Given the description of an element on the screen output the (x, y) to click on. 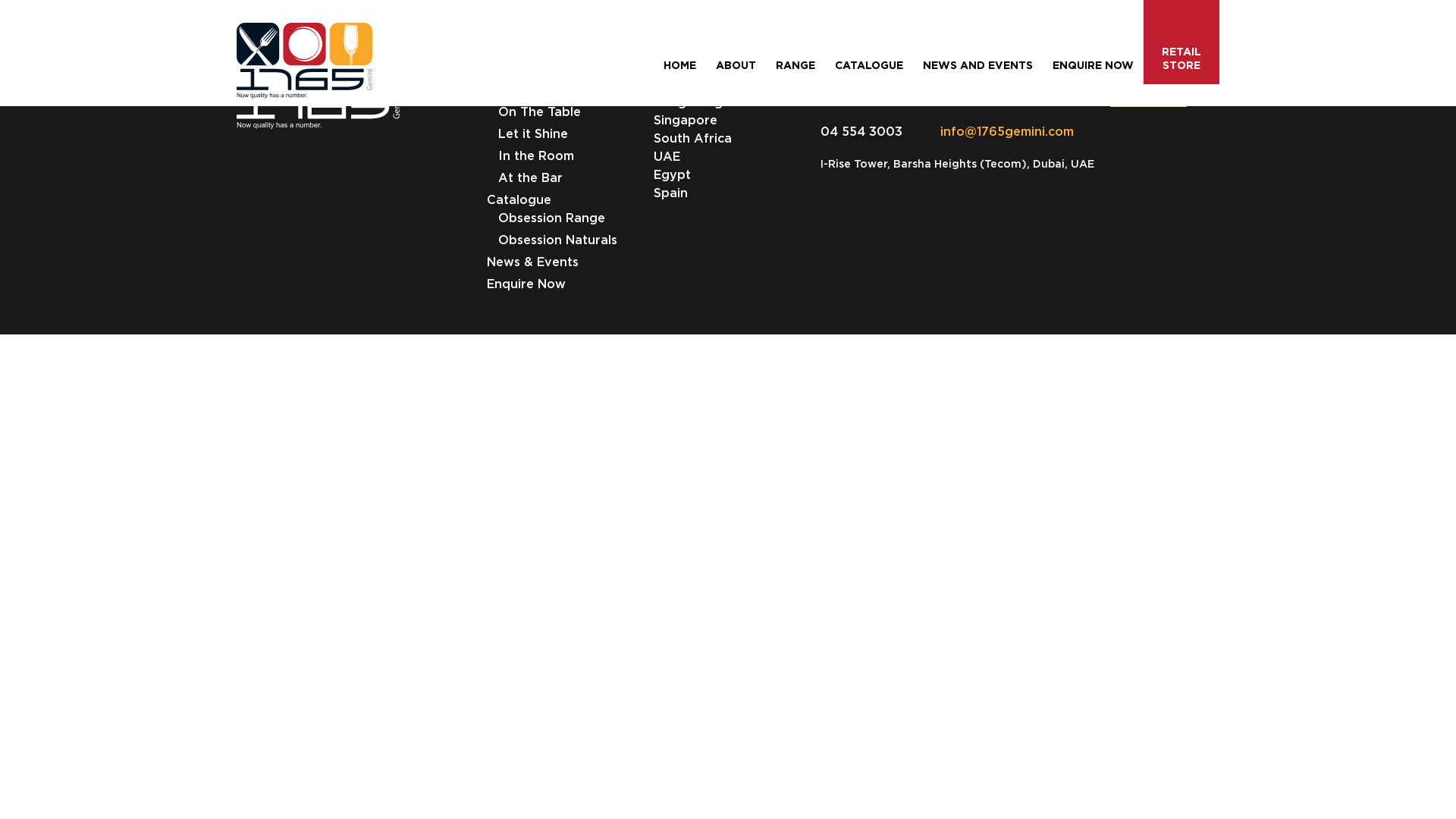
CATALOGUE Element type: text (869, 65)
RANGE Element type: text (795, 65)
Home Element type: text (503, 48)
Let it Shine Element type: text (532, 135)
Obsession Range Element type: text (551, 219)
ABOUT Element type: text (735, 65)
In the Room Element type: text (536, 157)
About Element type: text (506, 70)
SUBSCRIBE Element type: text (1148, 89)
ENQUIRE NOW Element type: text (1092, 65)
On The Table Element type: text (539, 113)
Enquire Now Element type: text (525, 285)
HOME Element type: text (679, 65)
NEWS AND EVENTS Element type: text (977, 65)
04 554 3003 Element type: text (861, 131)
At the Bar Element type: text (530, 179)
News & Events Element type: text (532, 263)
Obsession Naturals Element type: text (557, 241)
info@1765gemini.com Element type: text (987, 131)
